Given the description of an element on the screen output the (x, y) to click on. 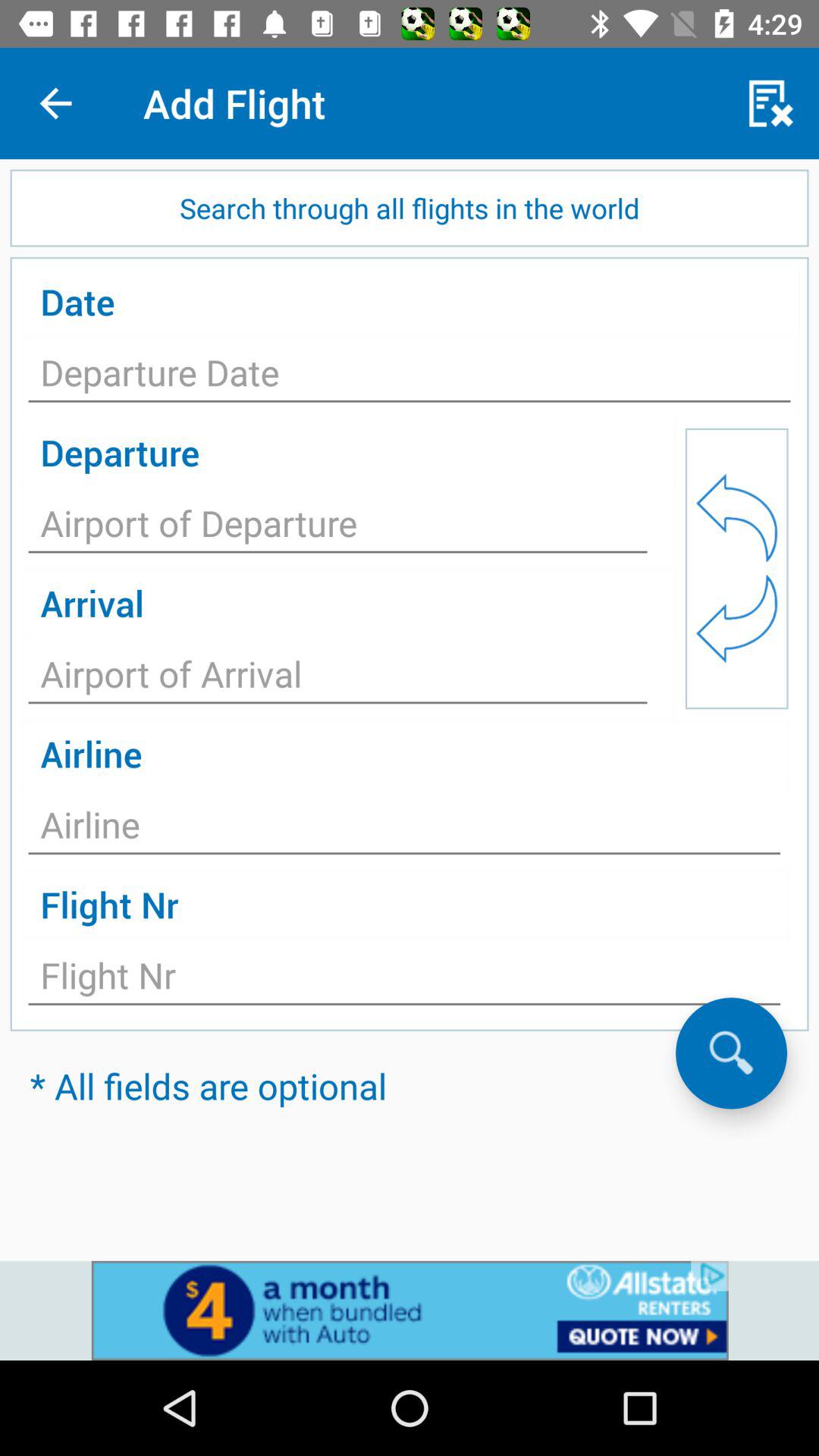
enter text (409, 377)
